Given the description of an element on the screen output the (x, y) to click on. 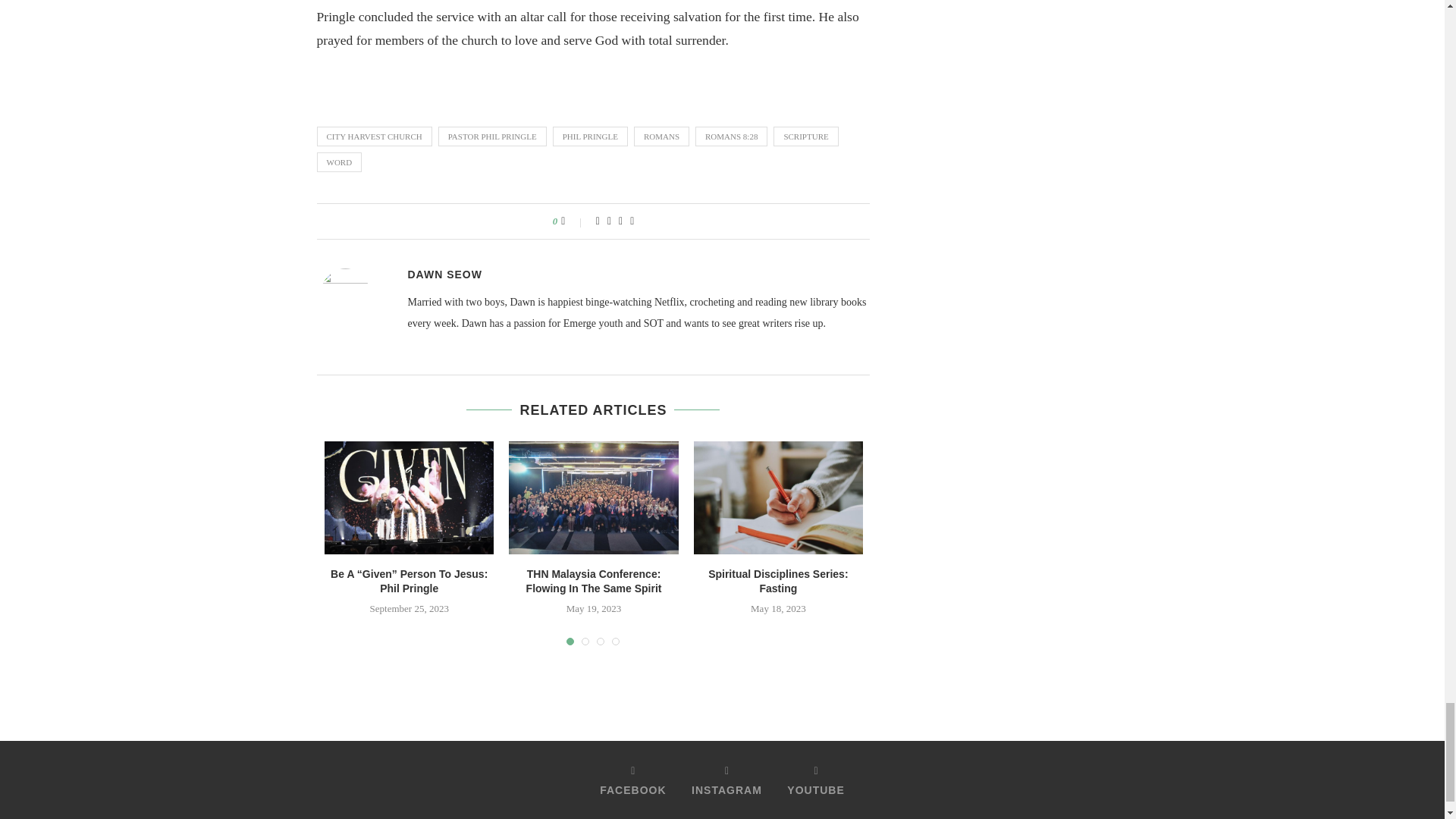
THN Malaysia Conference: Flowing In The Same Spirit (593, 497)
Spiritual Disciplines Series: Fasting (778, 497)
Posts by Dawn Seow (444, 274)
Like (572, 221)
